Given the description of an element on the screen output the (x, y) to click on. 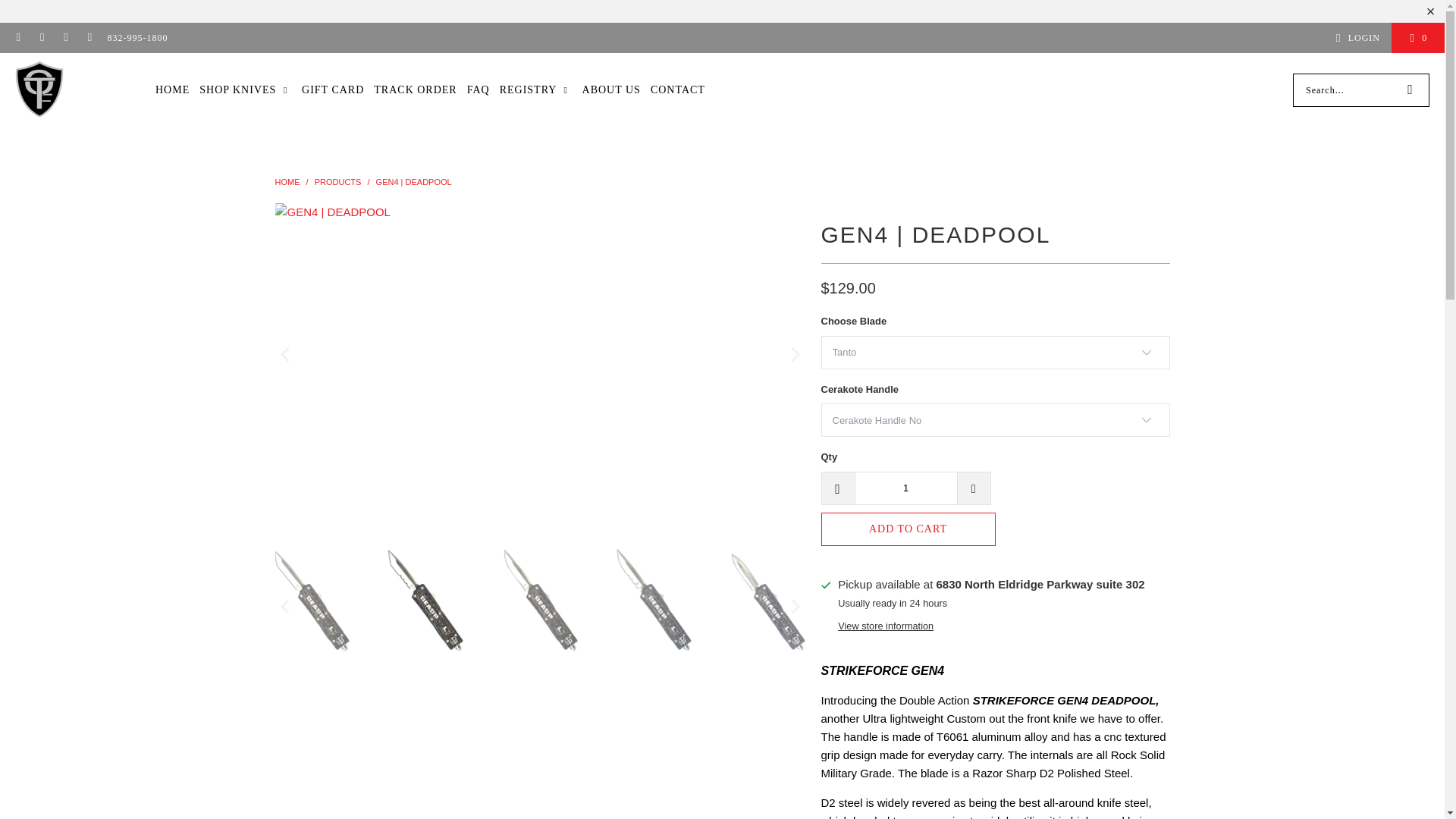
Products (337, 181)
1 (904, 488)
My Account  (1355, 37)
Infinity Knife Company on Facebook (41, 37)
Infinity Knife Company (287, 181)
Infinity Knife Company on Instagram (65, 37)
Infinity Knife Company on YouTube (89, 37)
Email Infinity Knife Company (17, 37)
